Given the description of an element on the screen output the (x, y) to click on. 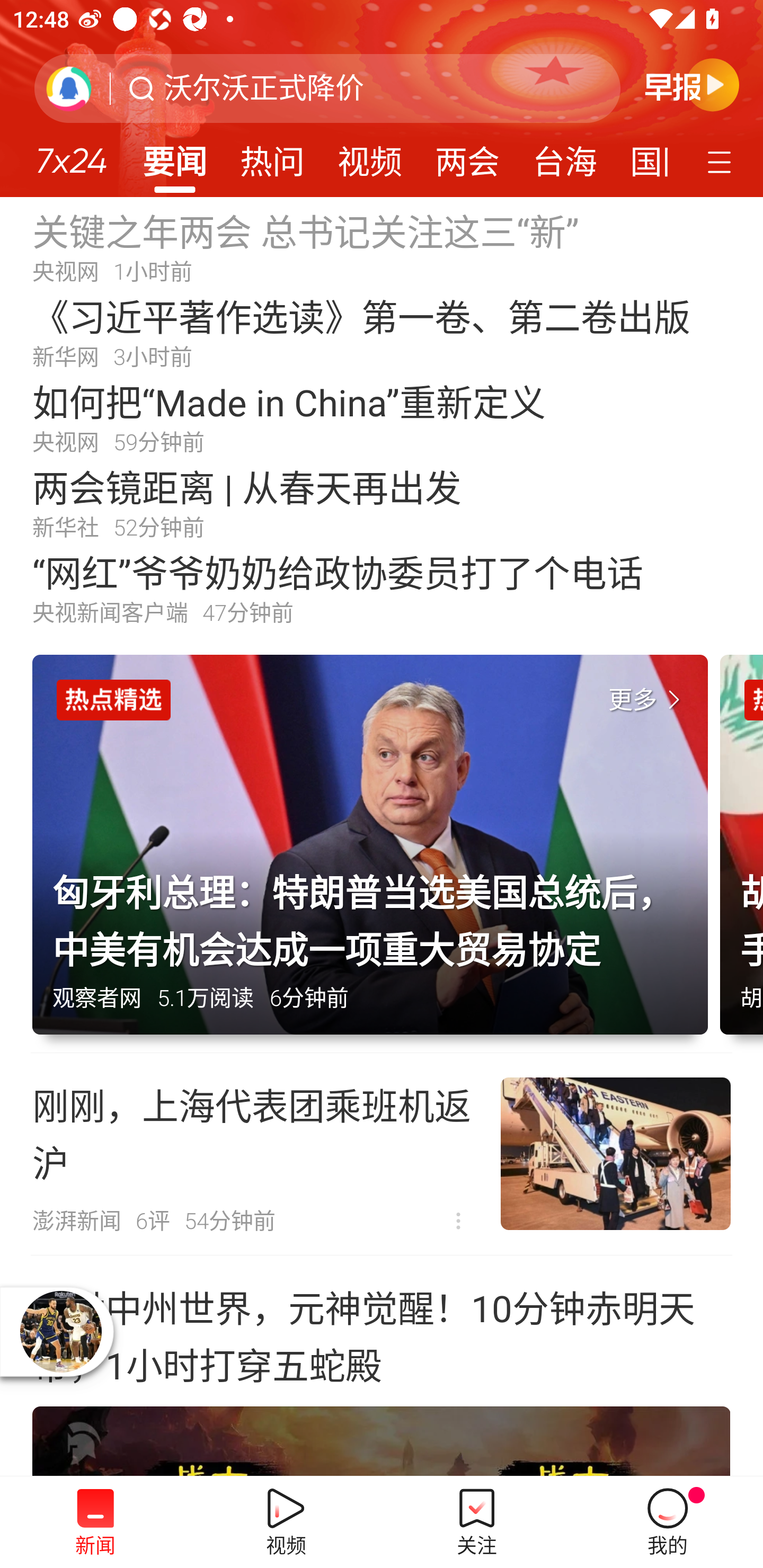
早晚报 (691, 84)
刷新 (68, 88)
沃尔沃正式降价 (263, 88)
7x24 (70, 154)
要闻 (174, 155)
热问 (272, 155)
视频 (369, 155)
两会 (466, 155)
台海 (564, 155)
 定制频道 (721, 160)
关键之年两会 总书记关注这三“新” 央视网 1小时前 (381, 245)
《习近平著作选读》第一卷、第二卷出版 新华网 3小时前 (381, 331)
如何把“Made in China”重新定义 央视网 59分钟前 (381, 416)
两会镜距离 | 从春天再出发 新华社 52分钟前 (381, 502)
“网红”爷爷奶奶给政协委员打了个电话 央视新闻客户端 47分钟前 (381, 587)
更多  (648, 699)
刚刚，上海代表团乘班机返沪 澎湃新闻 6评 54分钟前  不感兴趣 (381, 1153)
 不感兴趣 (458, 1221)
传世中州世界，元神觉醒！10分钟赤明天帝，1小时打穿五蛇殿 (381, 1366)
播放器 (60, 1331)
